Given the description of an element on the screen output the (x, y) to click on. 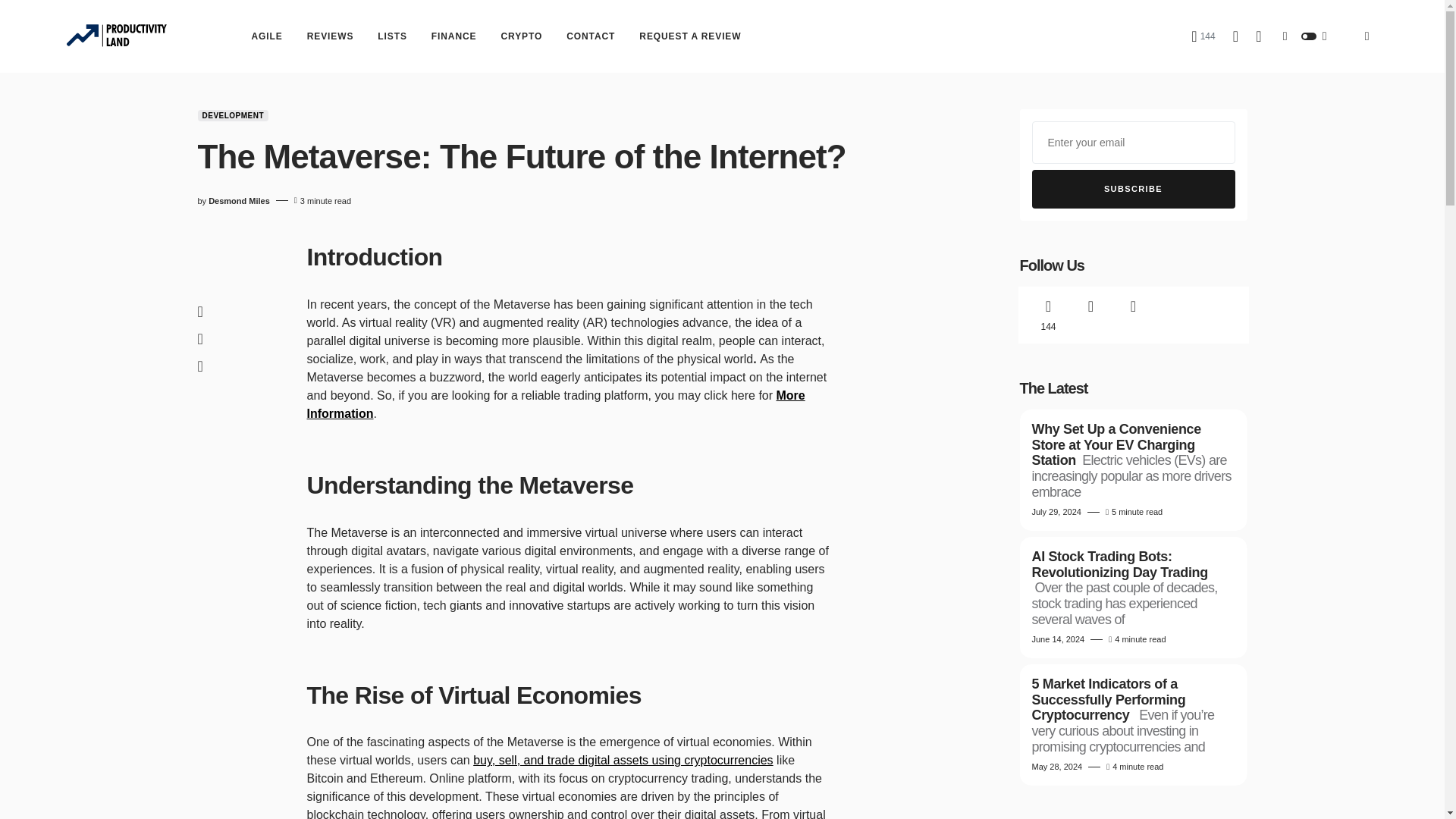
144 (1202, 36)
View all posts by Desmond Miles (238, 201)
REQUEST A REVIEW (690, 36)
